Given the description of an element on the screen output the (x, y) to click on. 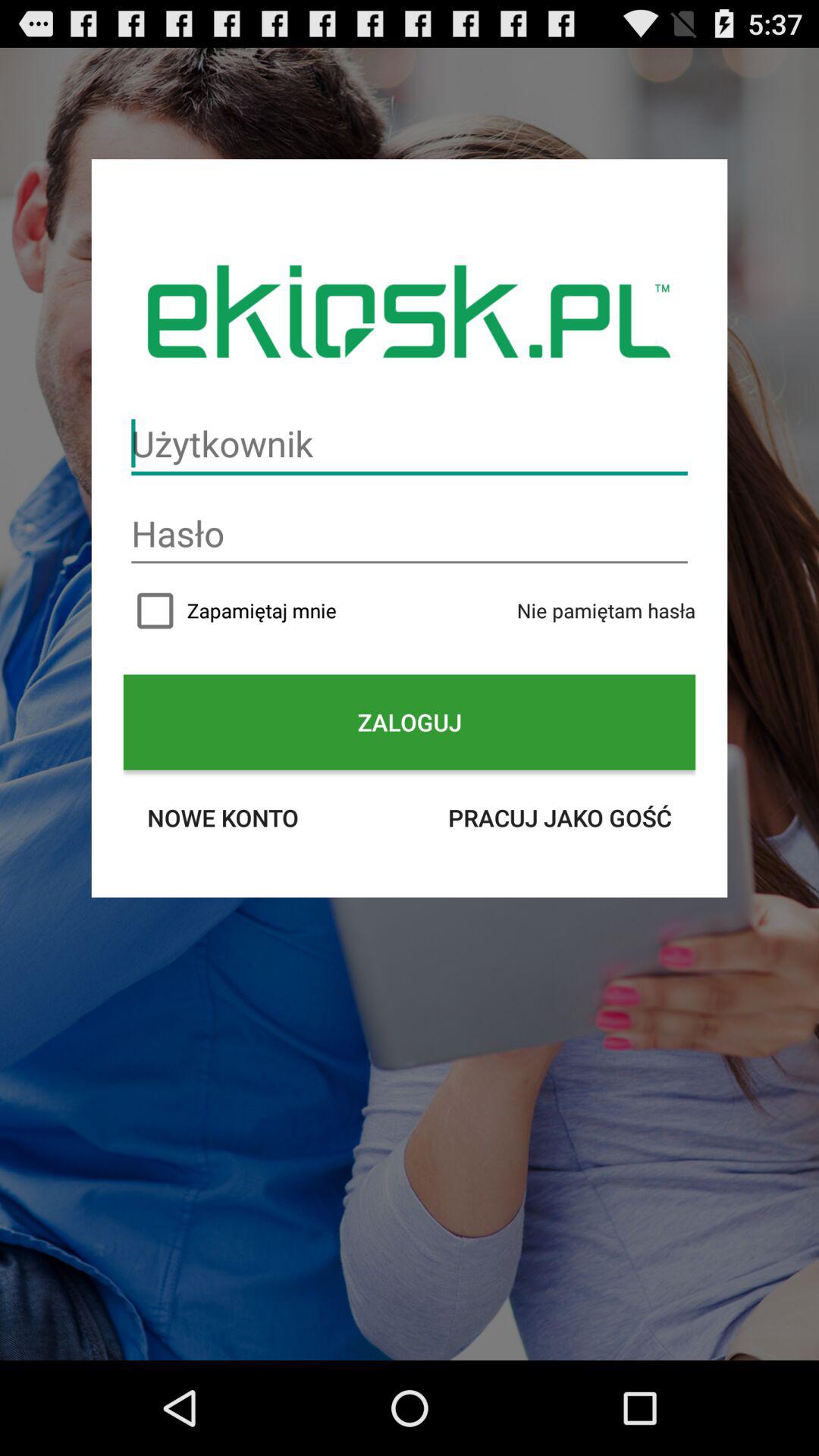
select the icon below zaloguj item (222, 817)
